Given the description of an element on the screen output the (x, y) to click on. 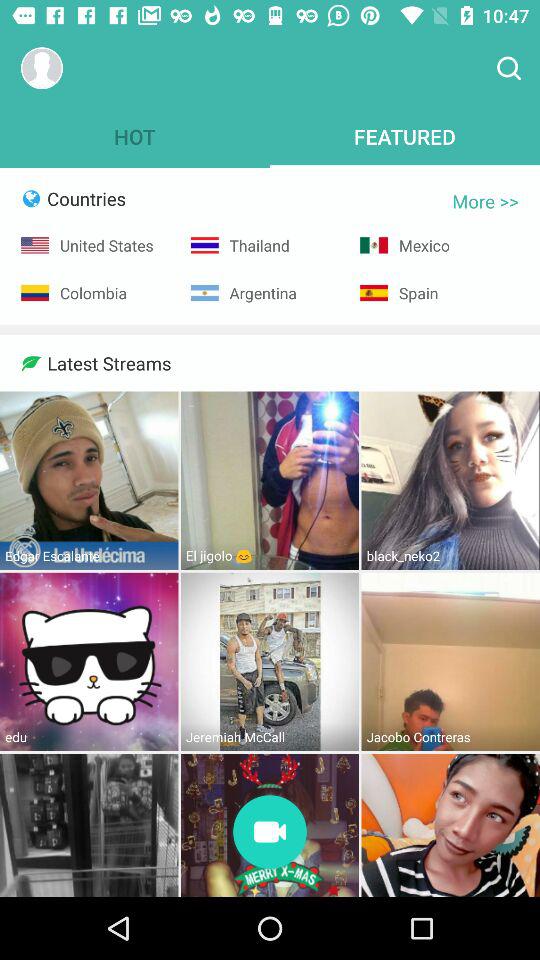
profile information (42, 68)
